Given the description of an element on the screen output the (x, y) to click on. 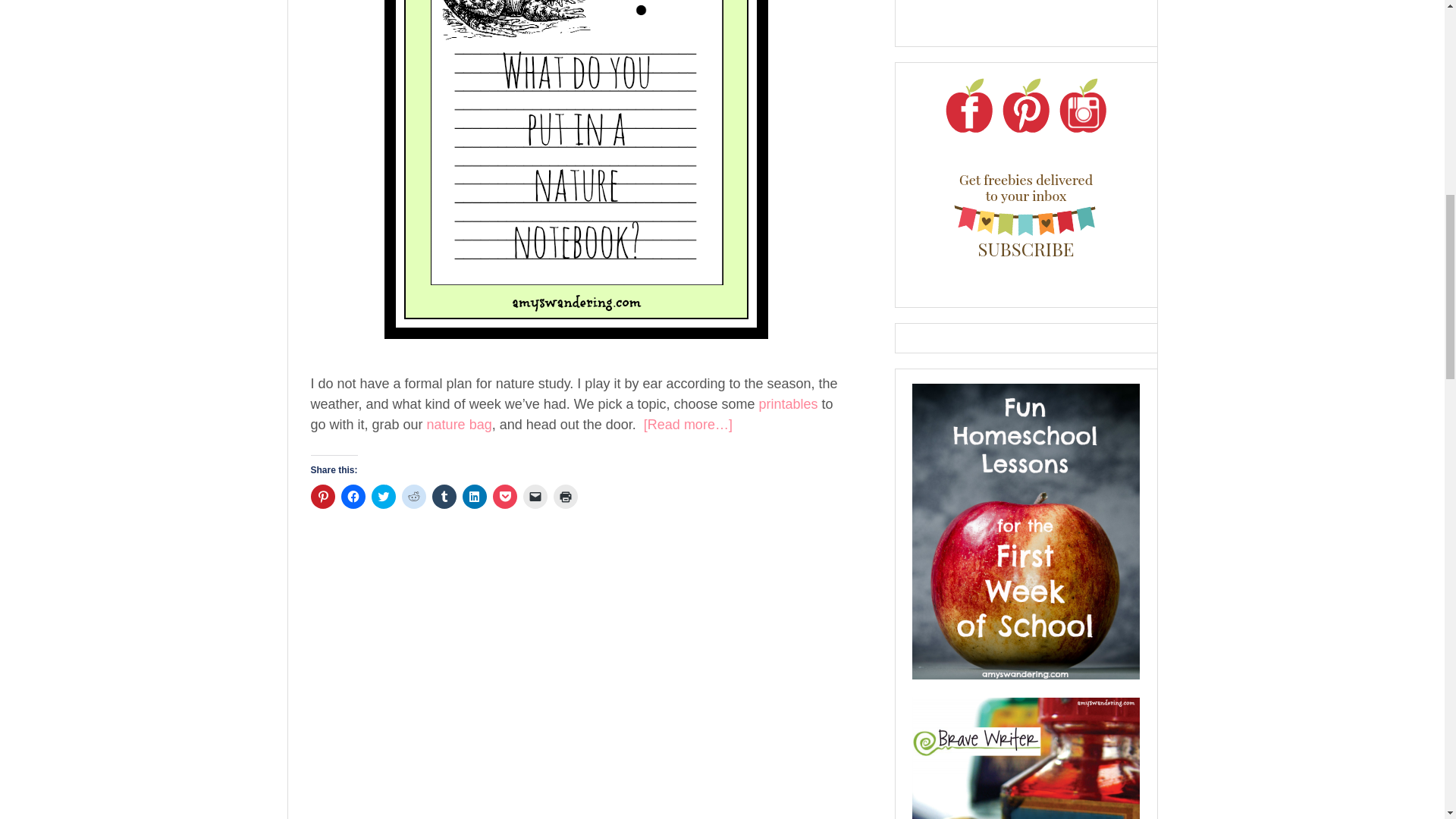
Click to share on Facebook (352, 496)
nature bag (459, 424)
Click to share on Twitter (383, 496)
Click to email a link to a friend (534, 496)
Click to share on LinkedIn (474, 496)
Click to print (565, 496)
printables (787, 403)
Click to share on Reddit (413, 496)
Click to share on Tumblr (444, 496)
Click to share on Pinterest (322, 496)
